Given the description of an element on the screen output the (x, y) to click on. 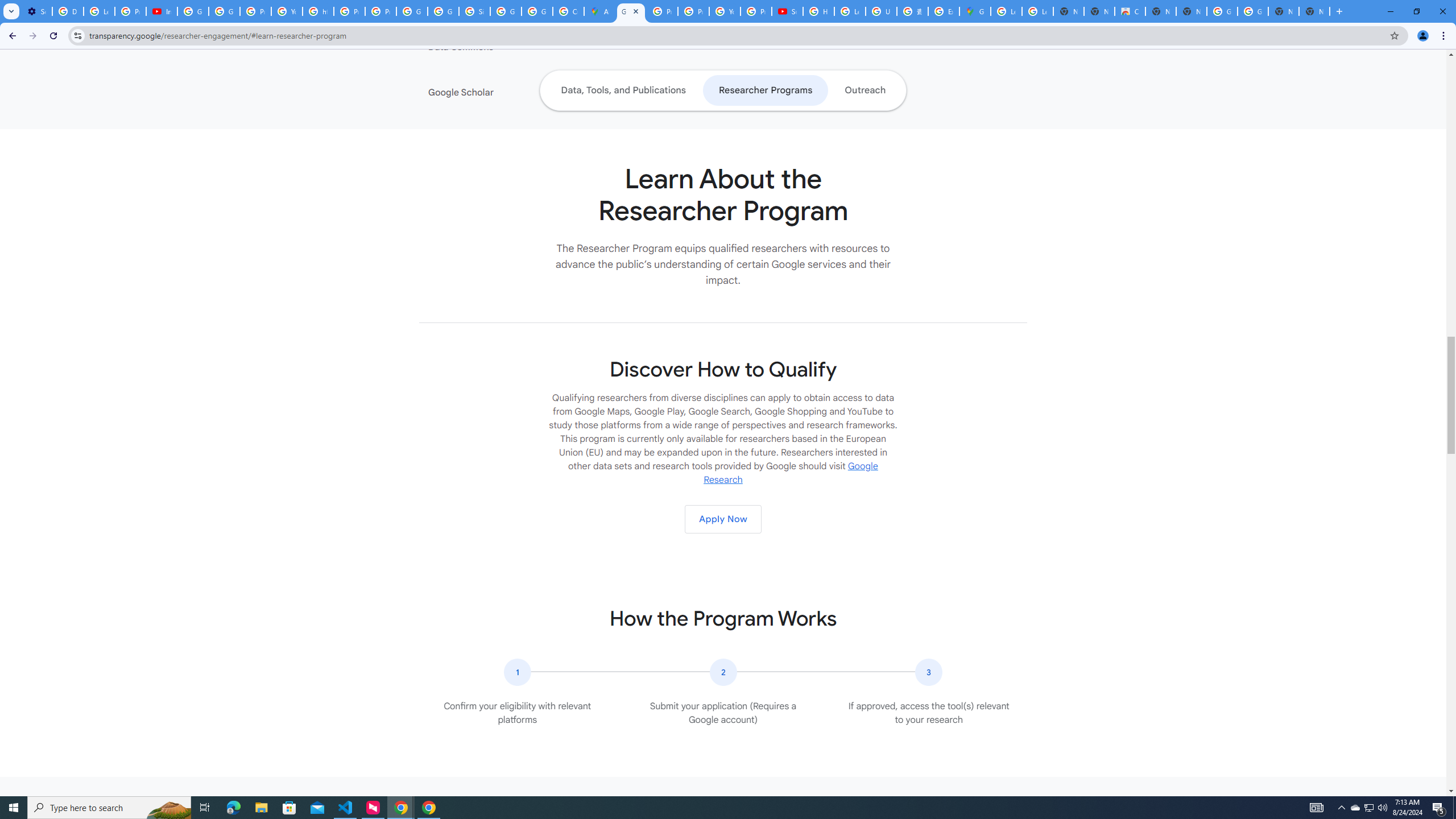
Data Commons (497, 46)
Privacy Help Center - Policies Help (349, 11)
YouTube (286, 11)
Privacy Help Center - Policies Help (693, 11)
Delete photos & videos - Computer - Google Photos Help (67, 11)
Create your Google Account (568, 11)
Subscriptions - YouTube (787, 11)
New Tab (1314, 11)
Apply Now (722, 519)
The number one in a circular icon. (517, 672)
